Given the description of an element on the screen output the (x, y) to click on. 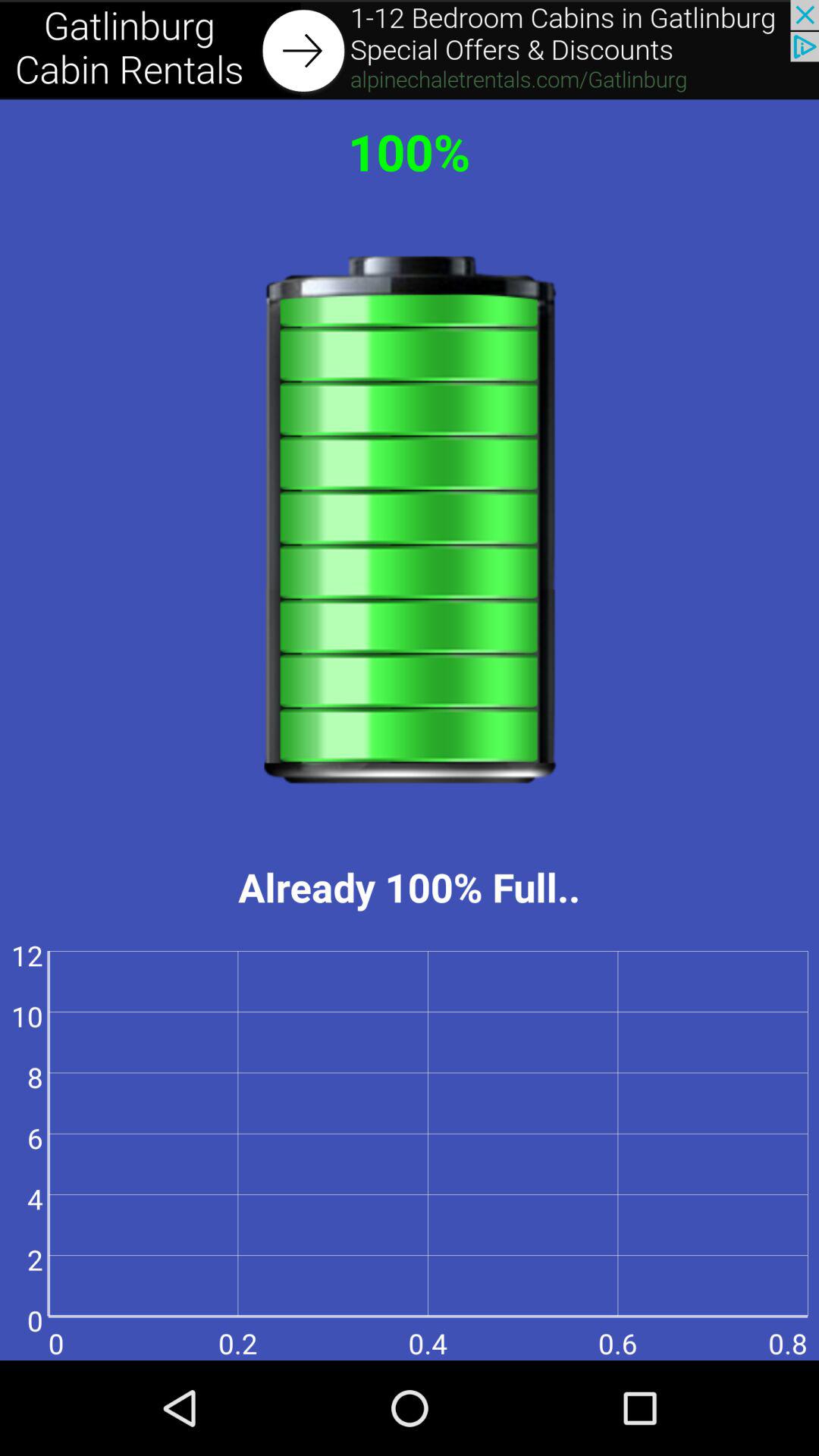
go back (409, 49)
